Given the description of an element on the screen output the (x, y) to click on. 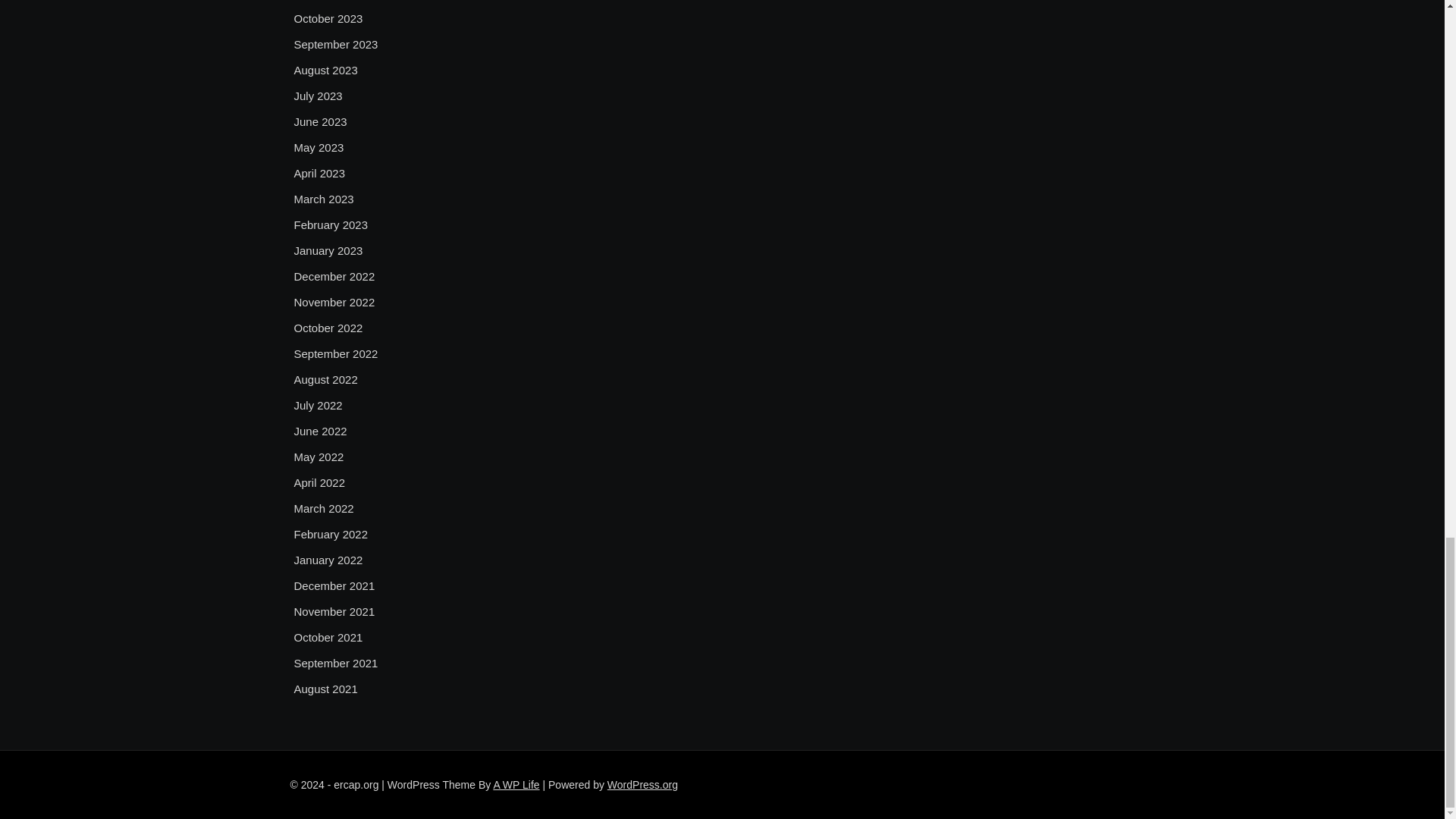
October 2022 (328, 328)
August 2023 (326, 70)
September 2023 (336, 45)
February 2023 (331, 225)
December 2022 (334, 276)
October 2023 (328, 18)
May 2023 (318, 147)
June 2023 (320, 122)
January 2023 (328, 250)
March 2023 (323, 199)
April 2023 (320, 173)
July 2023 (318, 95)
November 2023 (334, 1)
November 2022 (334, 302)
